Given the description of an element on the screen output the (x, y) to click on. 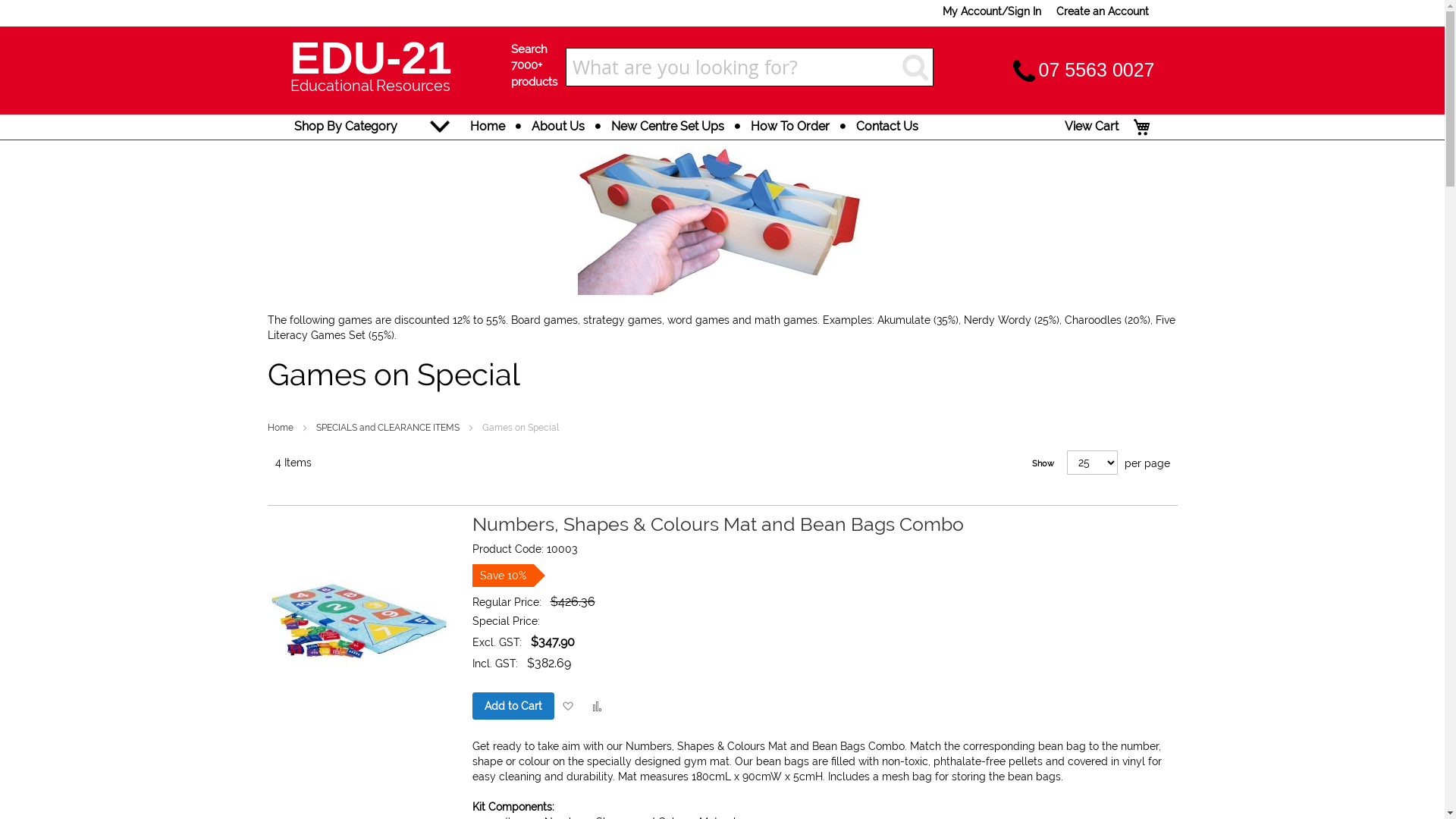
Add to Compare Element type: text (596, 706)
Numbers, Shapes & Colours Mat and Bean Bags Combo Element type: text (717, 523)
SPECIALS and CLEARANCE ITEMS Element type: text (388, 427)
My Cart Element type: text (1141, 126)
My Account/Sign In Element type: text (990, 11)
Shop By Category Element type: text (345, 126)
Search Element type: hover (914, 66)
Contact Us Element type: text (886, 125)
New Centre Set Ups Element type: text (666, 125)
Home Element type: text (486, 125)
View Cart Element type: text (1091, 126)
07 5563 0027 Element type: text (1096, 69)
About Us Element type: text (557, 125)
How To Order Element type: text (789, 125)
Home Element type: text (280, 427)
Add to Cart Element type: text (512, 705)
Create an Account Element type: text (1101, 11)
Add to Wish List Element type: text (566, 706)
Games on Special Element type: hover (722, 218)
EDU-21
Educational Resources Element type: text (390, 69)
